Given the description of an element on the screen output the (x, y) to click on. 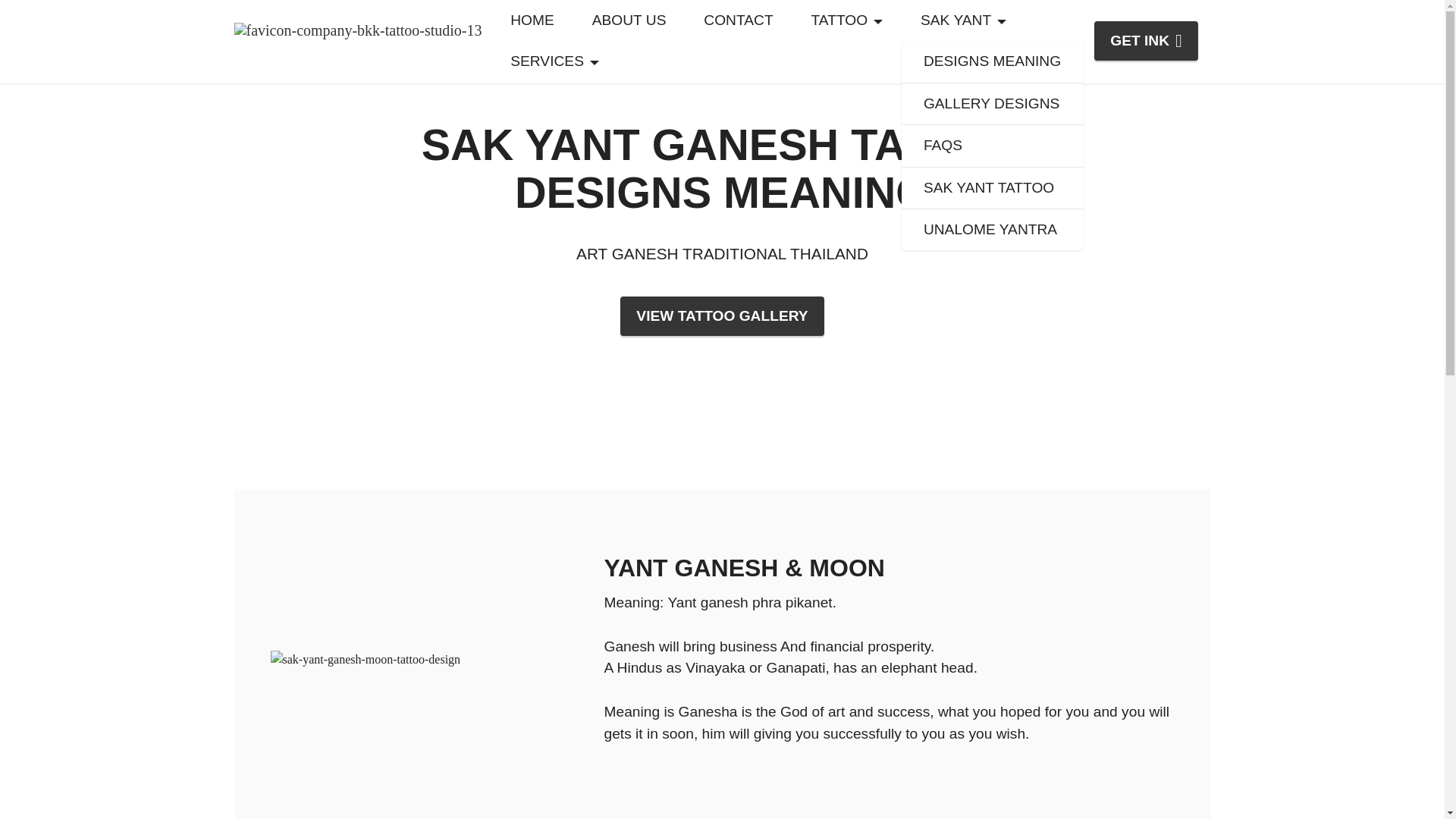
UNALOME YANTRA (992, 229)
SAK YANT TATTOO (992, 188)
FAQS (992, 146)
GET INK (1146, 40)
SAK YANT (962, 20)
GALLERY DESIGNS (992, 104)
DESIGNS MEANING (992, 61)
TATTOO (846, 20)
HOME (532, 20)
SERVICES (555, 61)
